Given the description of an element on the screen output the (x, y) to click on. 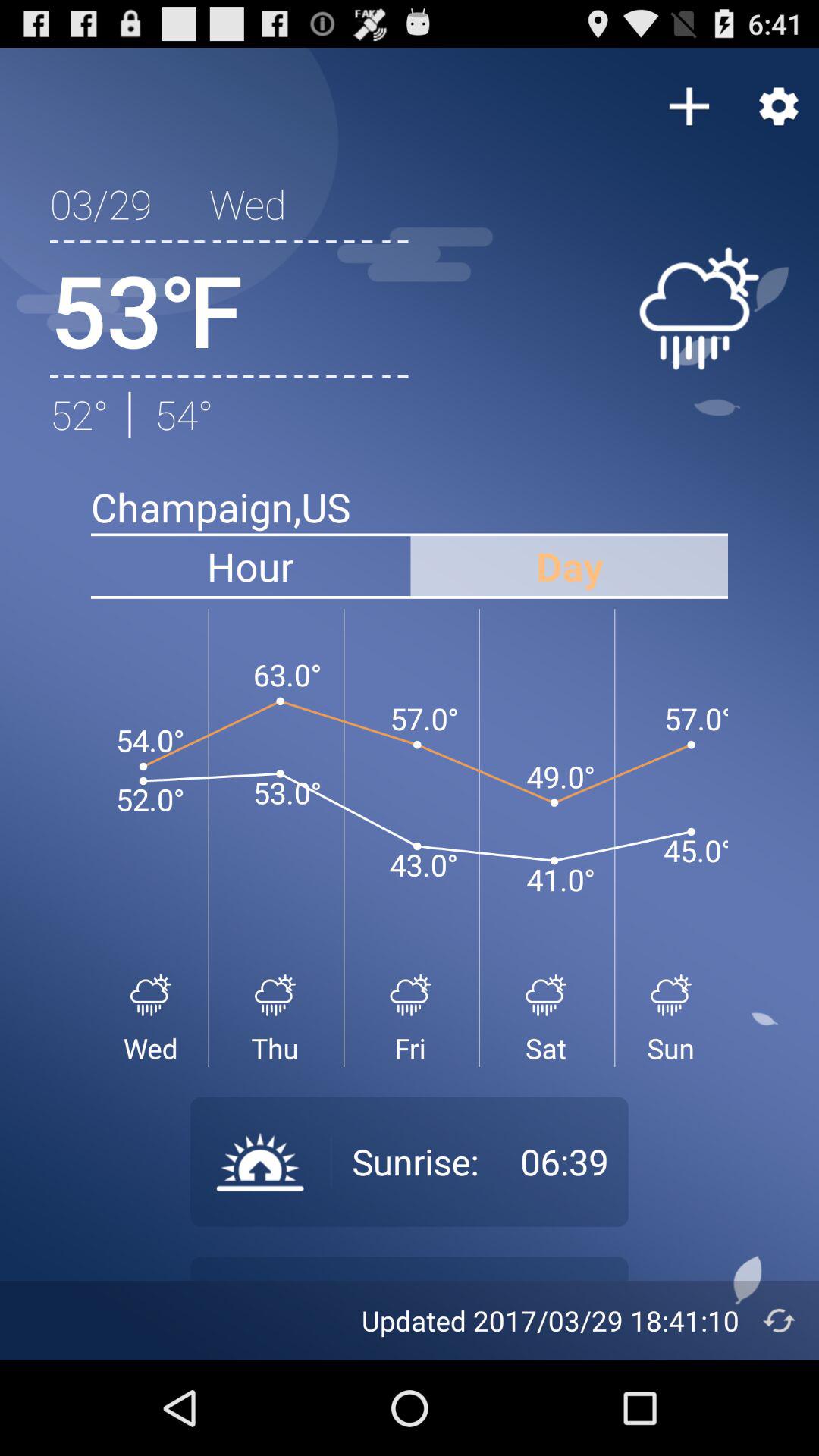
launch button next to the day icon (250, 566)
